Given the description of an element on the screen output the (x, y) to click on. 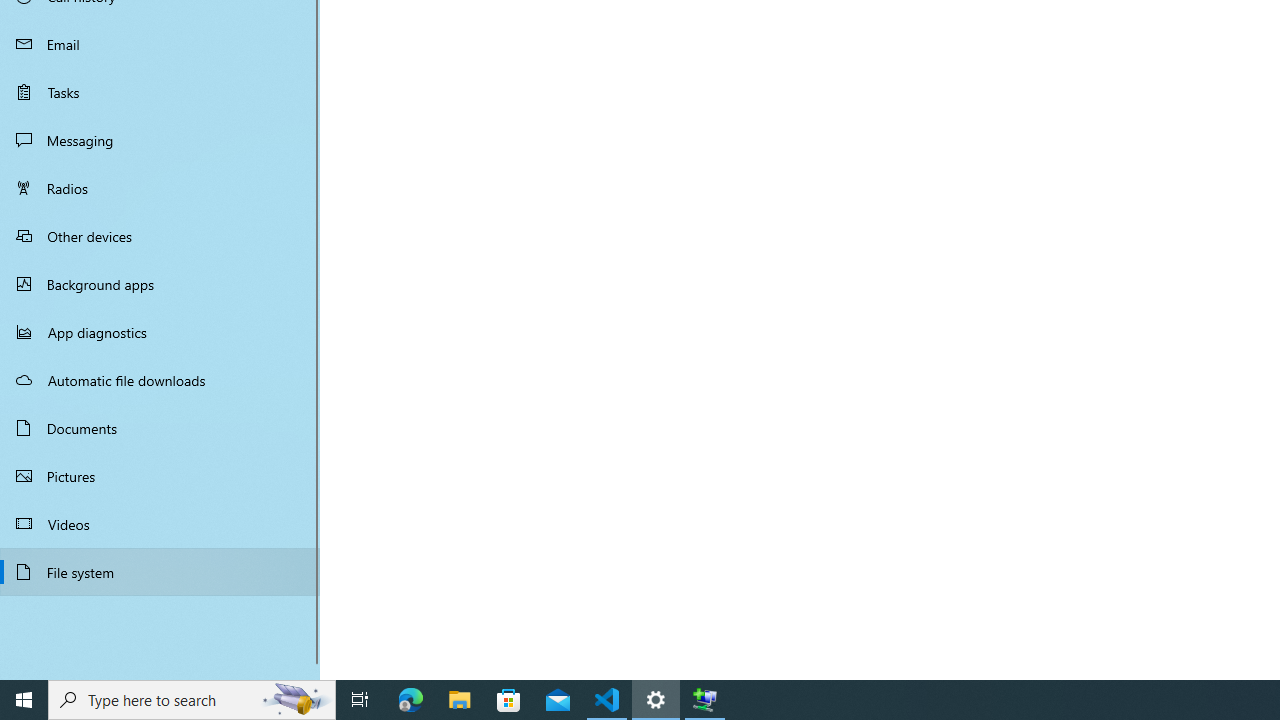
Tasks (160, 91)
Background apps (160, 283)
Extensible Wizards Host Process - 1 running window (704, 699)
App diagnostics (160, 331)
Email (160, 43)
